Given the description of an element on the screen output the (x, y) to click on. 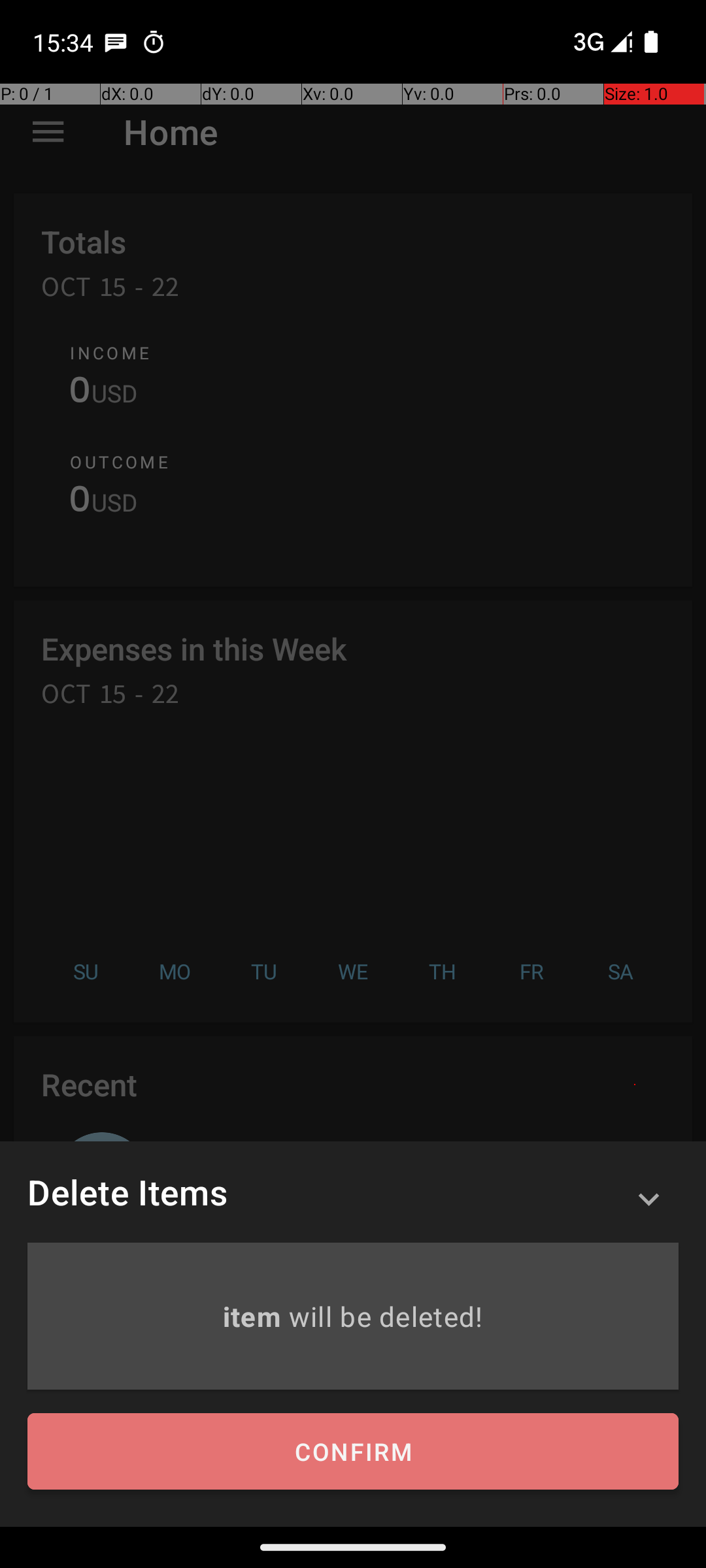
SMS Messenger notification: Amir dos Santos Element type: android.widget.ImageView (115, 41)
